Given the description of an element on the screen output the (x, y) to click on. 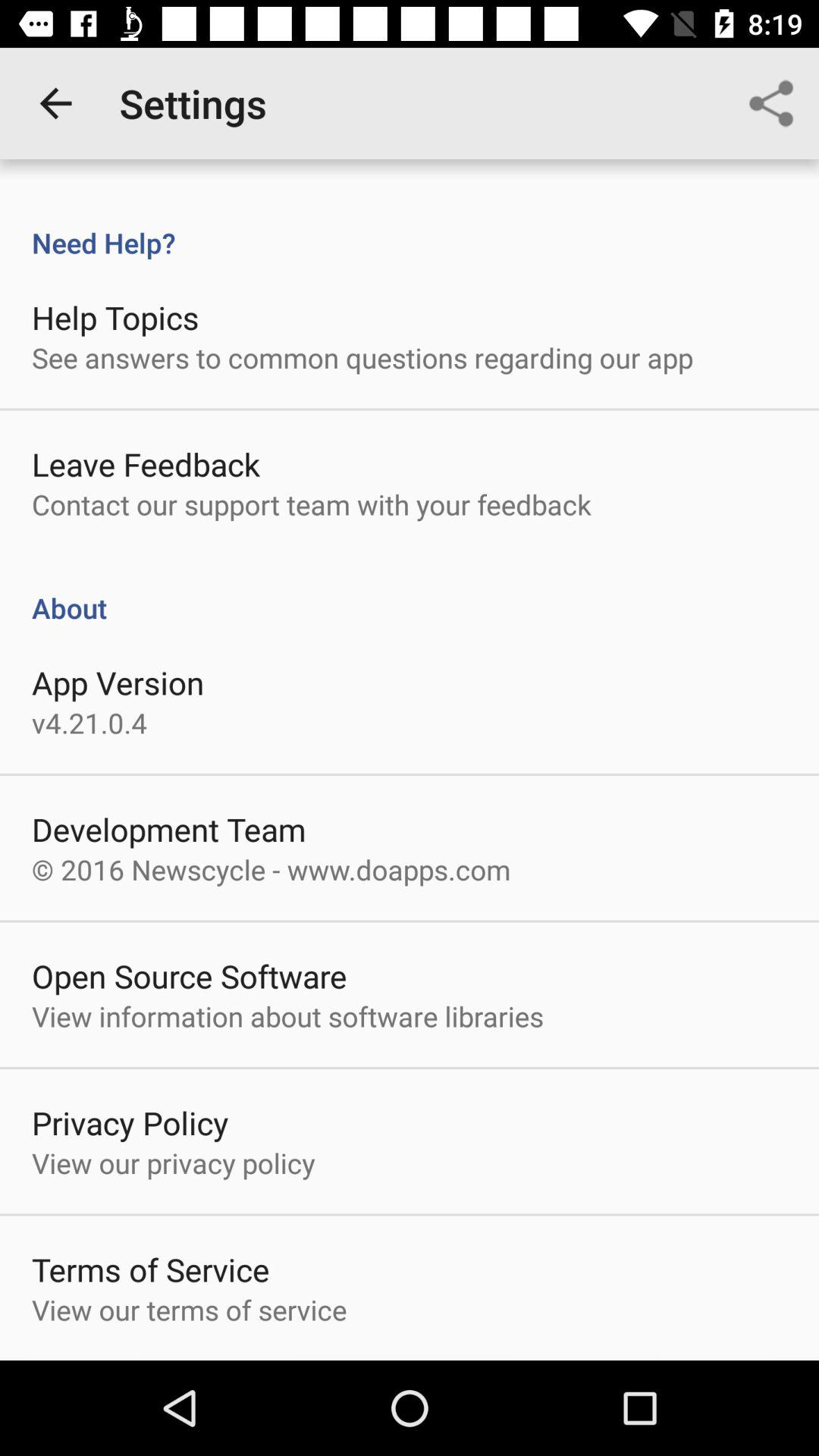
flip until leave feedback icon (145, 463)
